Given the description of an element on the screen output the (x, y) to click on. 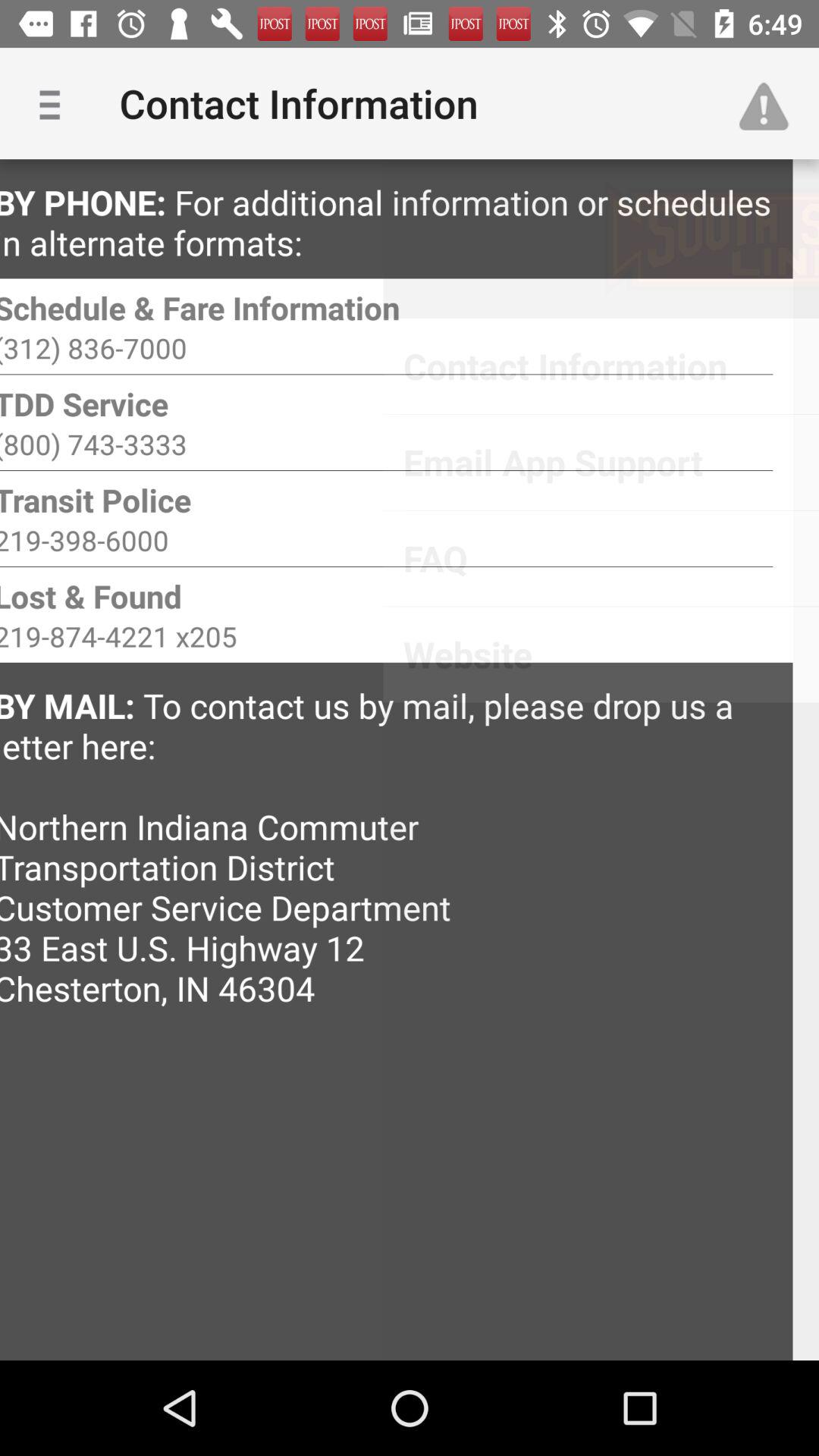
press item to the right of contact information (771, 103)
